Given the description of an element on the screen output the (x, y) to click on. 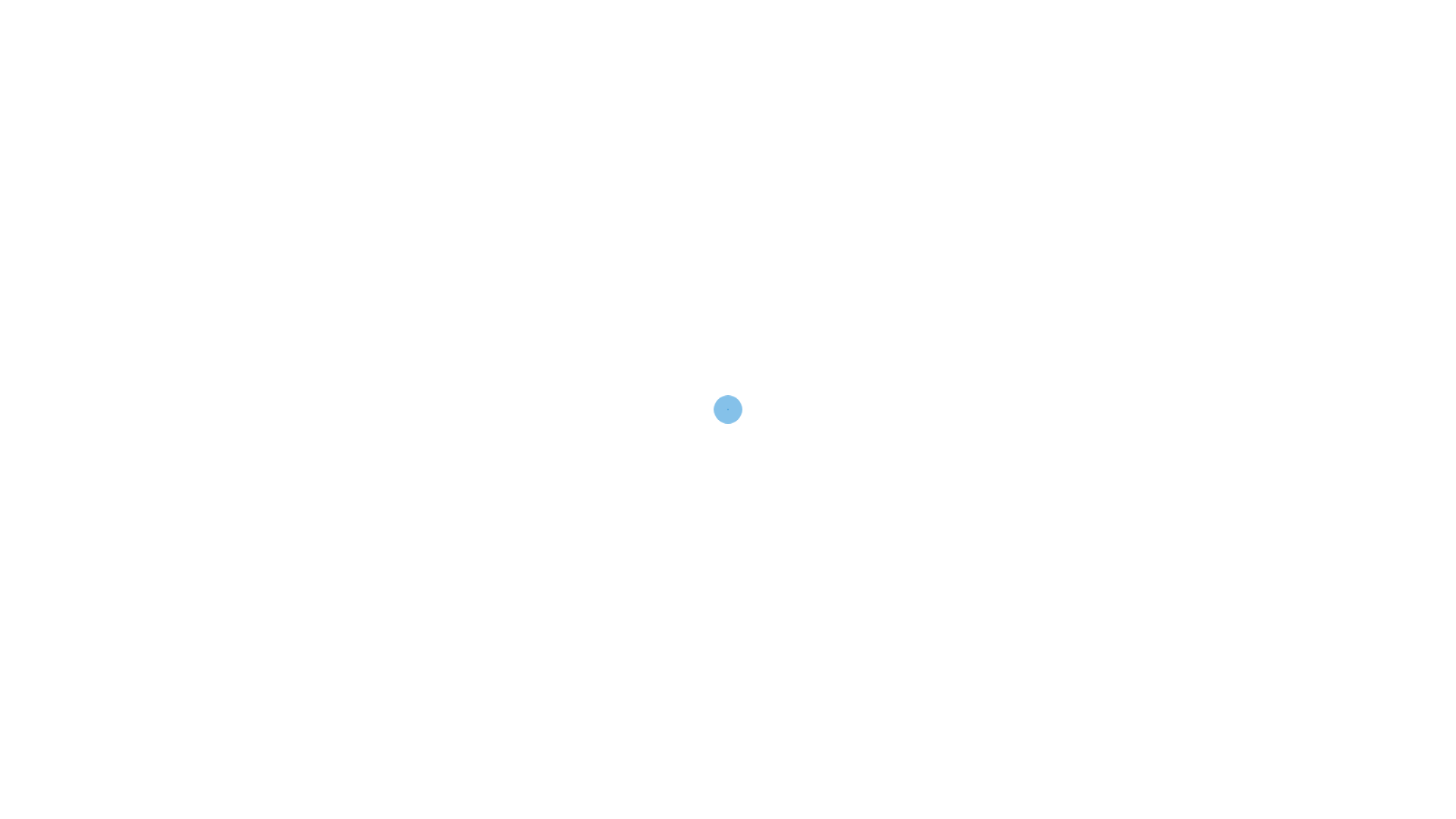
SERVICES Element type: text (529, 99)
HOME Element type: text (450, 99)
CAREERS Element type: text (803, 99)
CONTACT Element type: text (890, 99)
COMPANY Element type: text (631, 99)
NEWS Element type: text (725, 99)
